Given the description of an element on the screen output the (x, y) to click on. 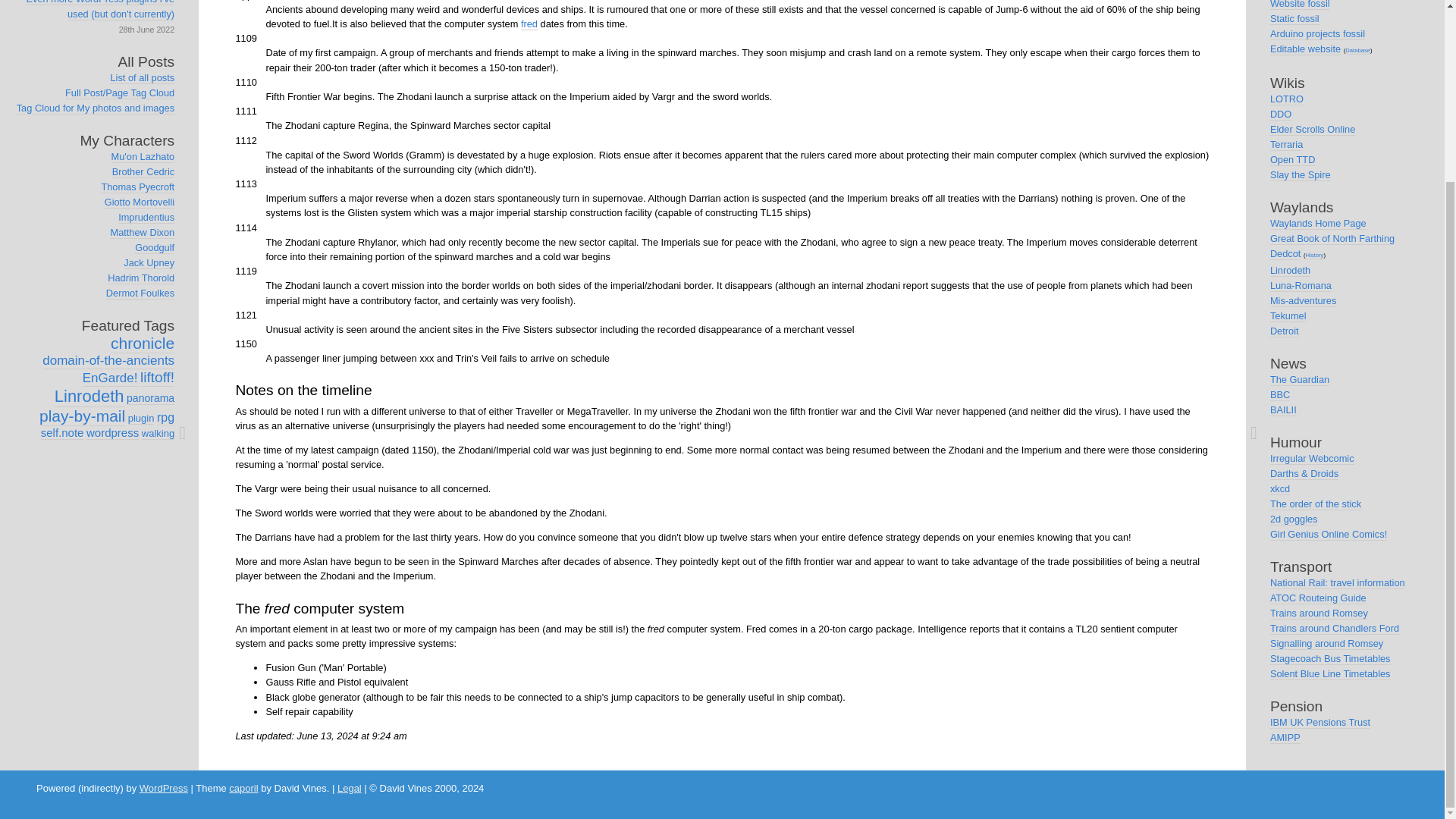
Giotto Mortovelli (139, 202)
Mu'on Lazhato (143, 156)
Imprudentius (145, 217)
Goodgulf (154, 247)
Hadrim Thorold (140, 277)
Jack Upney (148, 263)
Matthew Dixon (142, 232)
Thomas Pyecroft (137, 186)
Dermot Foulkes (140, 293)
Brother Cedric (143, 172)
